Given the description of an element on the screen output the (x, y) to click on. 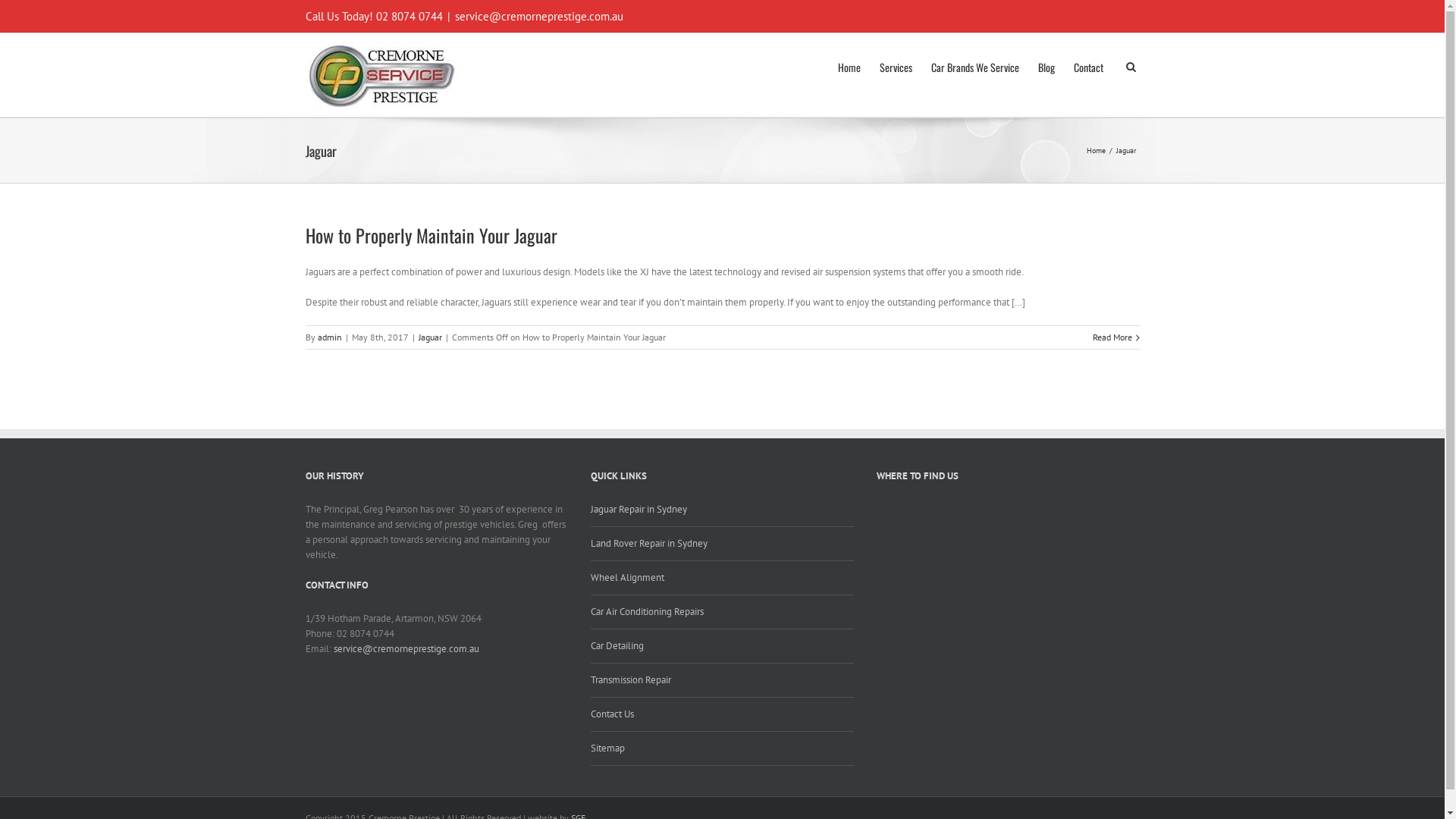
Read More Element type: text (1111, 336)
Home Element type: text (848, 65)
Wheel Alignment Element type: text (721, 578)
How to Properly Maintain Your Jaguar Element type: text (430, 234)
Sitemap Element type: text (721, 748)
Jaguar Element type: text (430, 336)
Services Element type: text (895, 65)
Home Element type: text (1096, 150)
Car Brands We Service Element type: text (975, 65)
admin Element type: text (328, 336)
Jaguar Element type: text (1127, 150)
Jaguar Repair in Sydney Element type: text (721, 514)
service@cremorneprestige.com.au Element type: text (539, 16)
Car Air Conditioning Repairs Element type: text (721, 612)
service@cremorneprestige.com.au Element type: text (406, 648)
Blog Element type: text (1045, 65)
Transmission Repair Element type: text (721, 680)
Contact Element type: text (1088, 65)
Contact Us Element type: text (721, 714)
Land Rover Repair in Sydney Element type: text (721, 544)
Car Detailing Element type: text (721, 646)
